Given the description of an element on the screen output the (x, y) to click on. 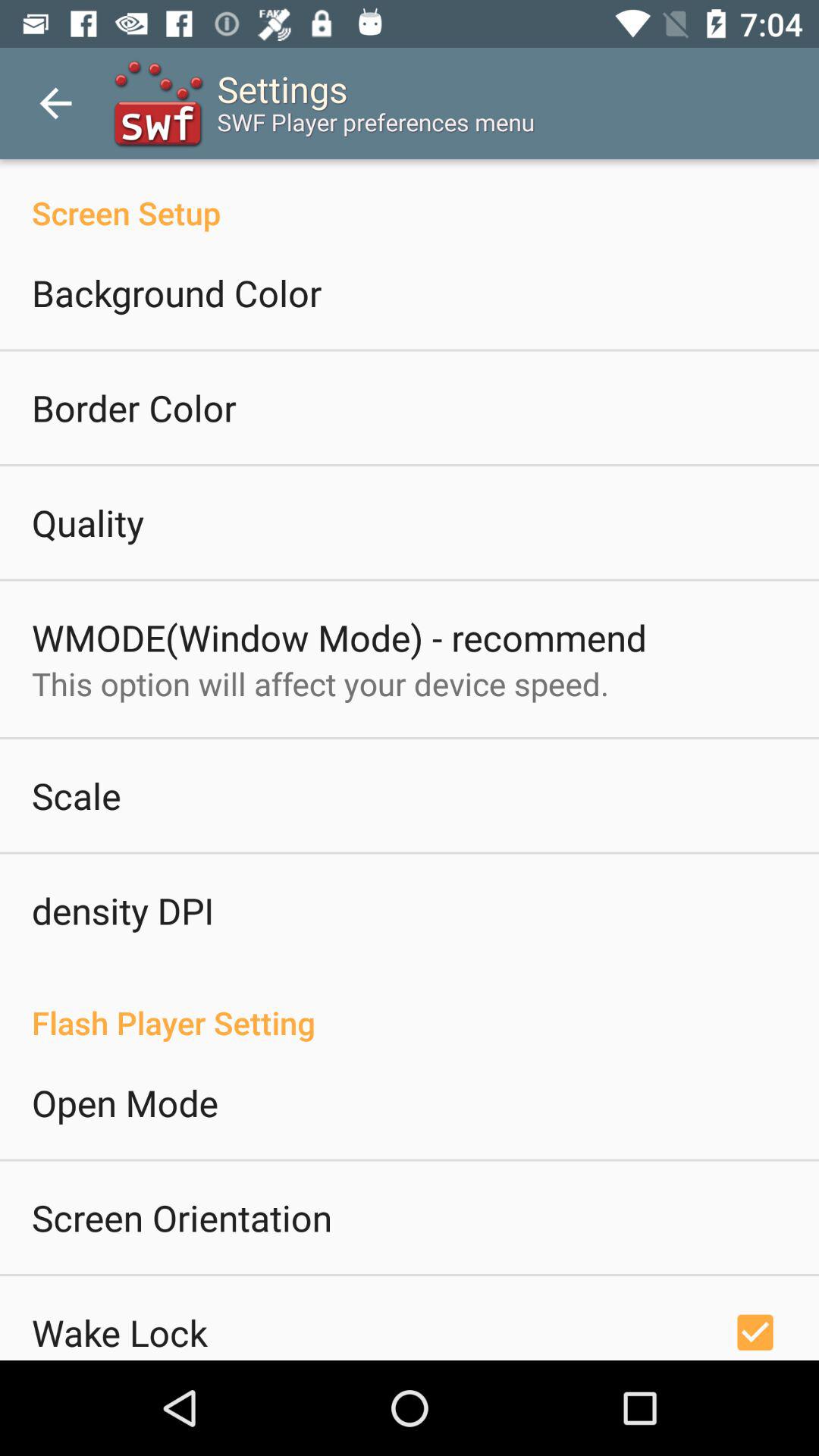
choose border color icon (133, 407)
